Given the description of an element on the screen output the (x, y) to click on. 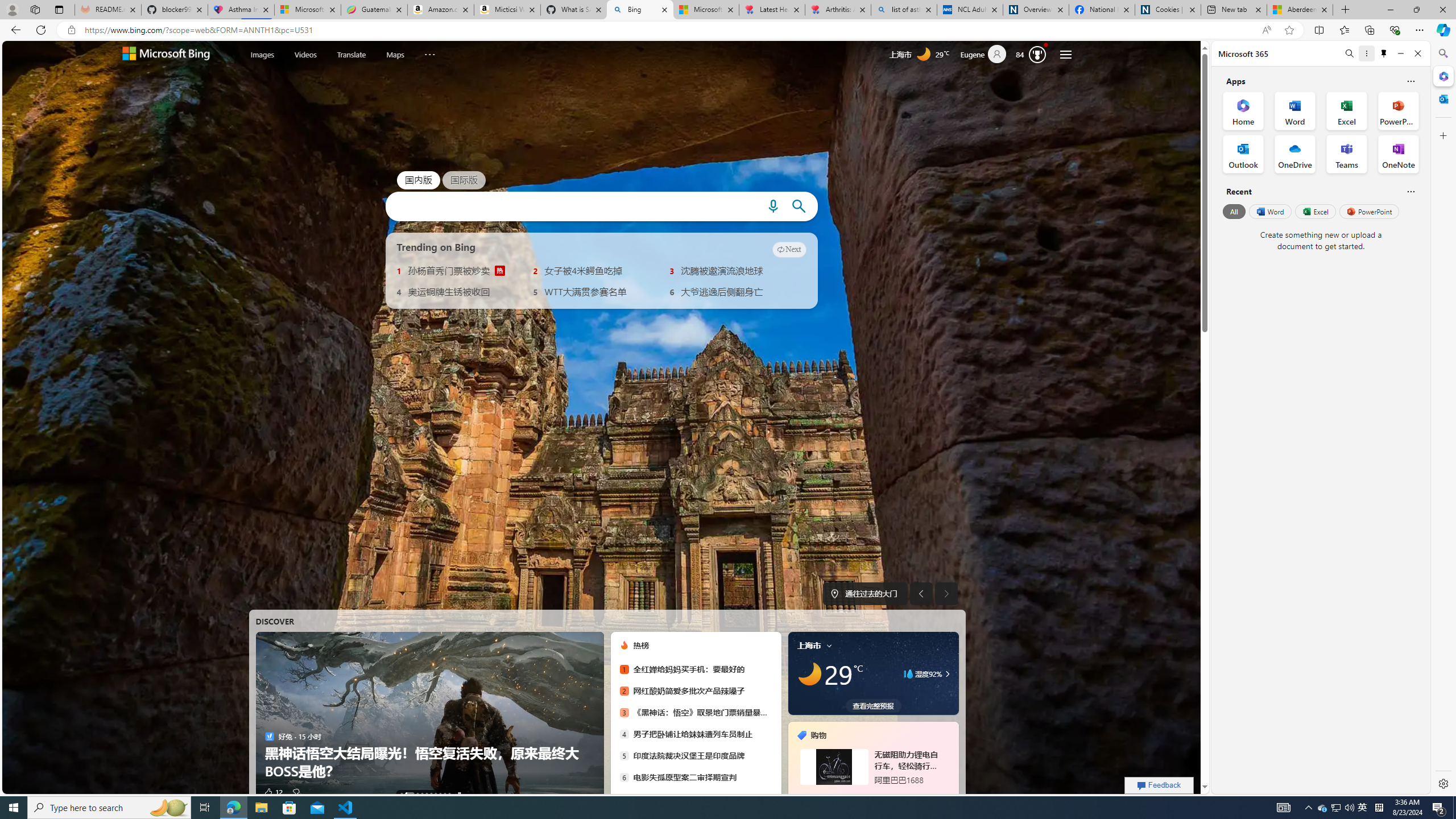
AutomationID: tab-0 (400, 793)
All (1233, 210)
PowerPoint (1369, 210)
Maps (394, 53)
Excel (1315, 210)
